Given the description of an element on the screen output the (x, y) to click on. 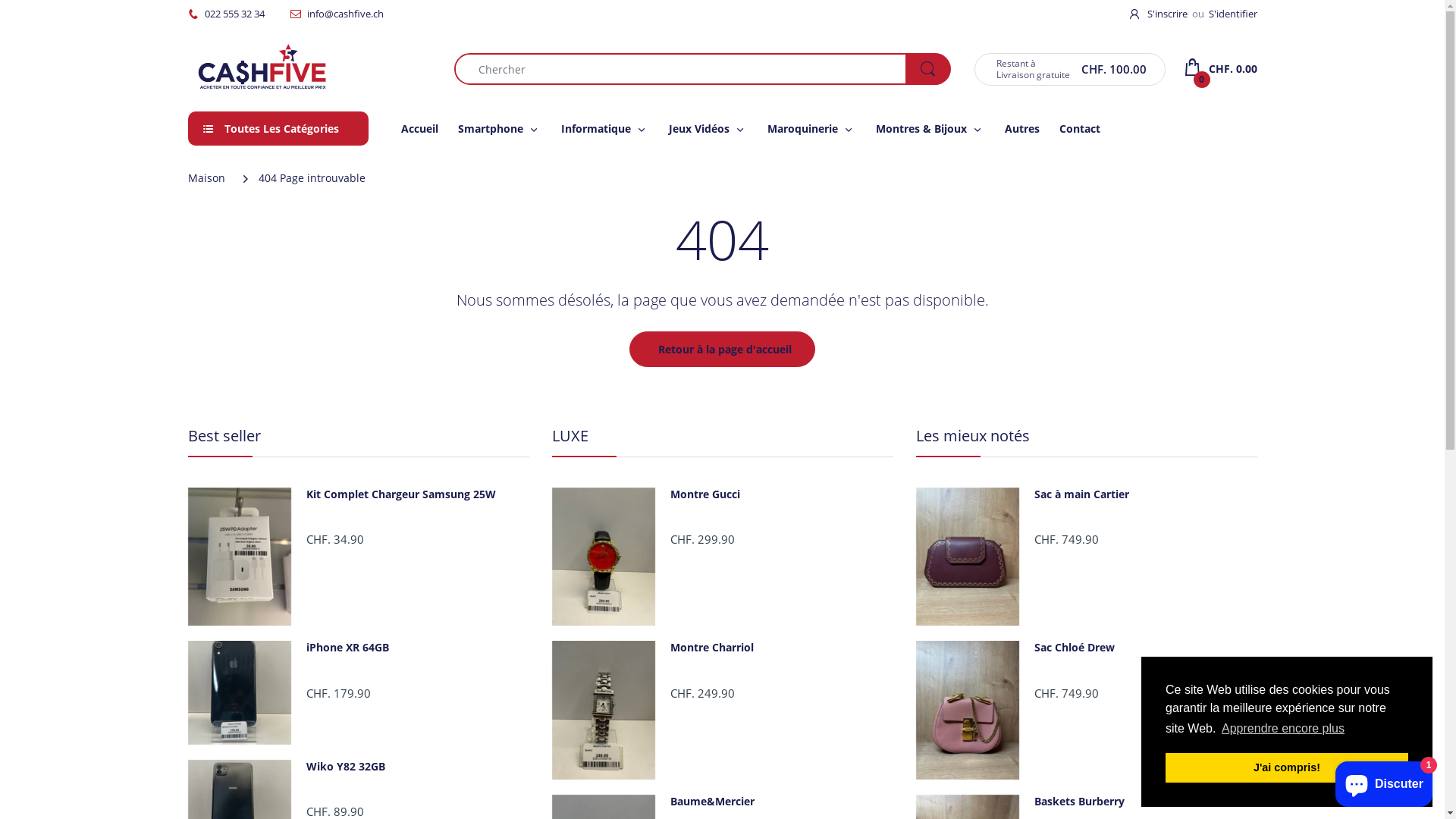
S'inscrire Element type: text (1159, 13)
Baskets Burberry Element type: text (1145, 801)
Contact Element type: text (1079, 127)
iPhone XR 64GB Element type: text (417, 647)
LUXE Element type: text (570, 435)
Baume&Mercier Element type: text (781, 801)
Apprendre encore plus Element type: text (1282, 728)
Smartphone Element type: text (490, 127)
0
CHF. 0.00 Element type: text (1220, 68)
Maroquinerie Element type: text (802, 127)
S'identifier Element type: text (1232, 13)
Montre Charriol Element type: text (781, 647)
Wiko Y82 32GB Element type: text (417, 766)
Maison Element type: text (206, 177)
Chat de la boutique en ligne Shopify Element type: hover (1383, 780)
J'ai compris! Element type: text (1286, 767)
Accueil Element type: text (419, 127)
Montres & Bijoux Element type: text (920, 127)
Autres Element type: text (1021, 127)
Kit Complet Chargeur Samsung 25W Element type: text (417, 494)
Cashfive - Acheter en toute confiance et au meilleur prix Element type: hover (263, 67)
Montre Gucci Element type: text (781, 494)
Informatique Element type: text (595, 127)
Best seller Element type: text (224, 435)
